Given the description of an element on the screen output the (x, y) to click on. 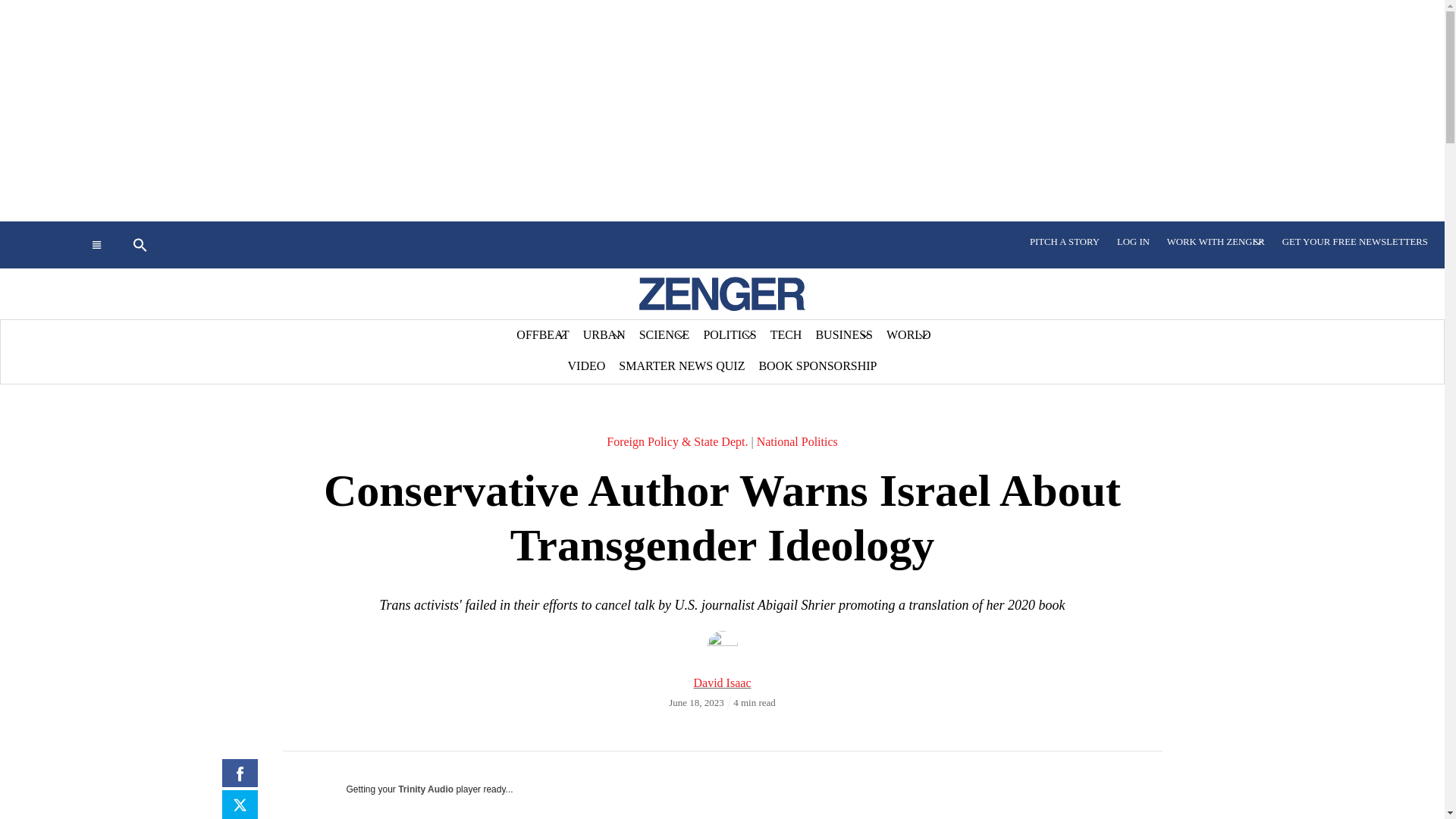
WORLD (908, 335)
GET YOUR FREE NEWSLETTERS (1354, 242)
TECH (785, 335)
SCIENCE (664, 335)
BUSINESS (843, 335)
PITCH A STORY (1065, 242)
Advertisement (872, 785)
Zenger-Logo2023 (722, 293)
POLITICS (728, 335)
